Given the description of an element on the screen output the (x, y) to click on. 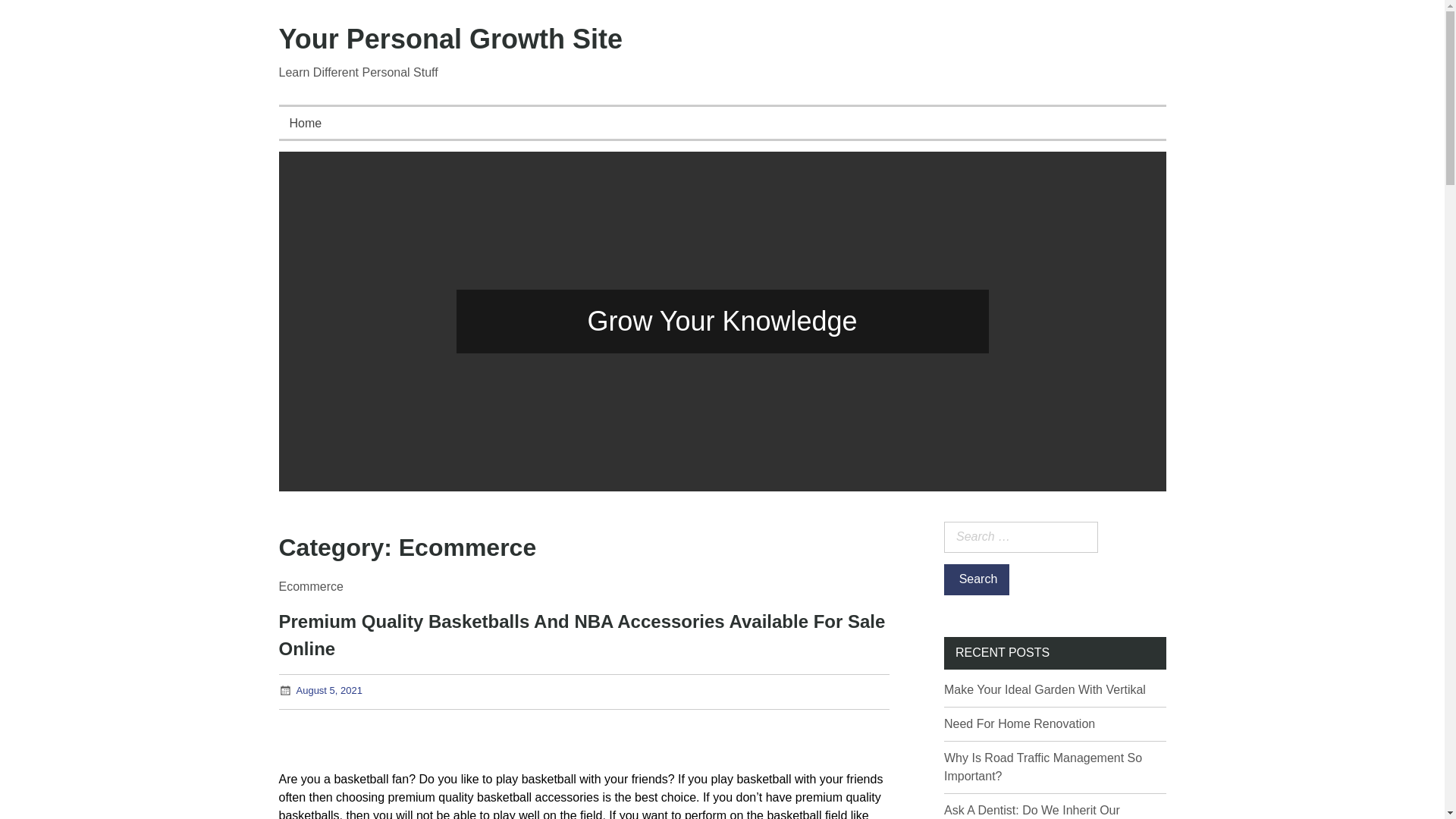
Make Your Ideal Garden With Vertikal (1044, 689)
August 5, 2021 (328, 690)
Your Personal Growth Site (451, 38)
Search (976, 579)
Need For Home Renovation (1018, 723)
Home (306, 122)
Why Is Road Traffic Management So Important? (1042, 766)
Search (976, 579)
Search (976, 579)
